Given the description of an element on the screen output the (x, y) to click on. 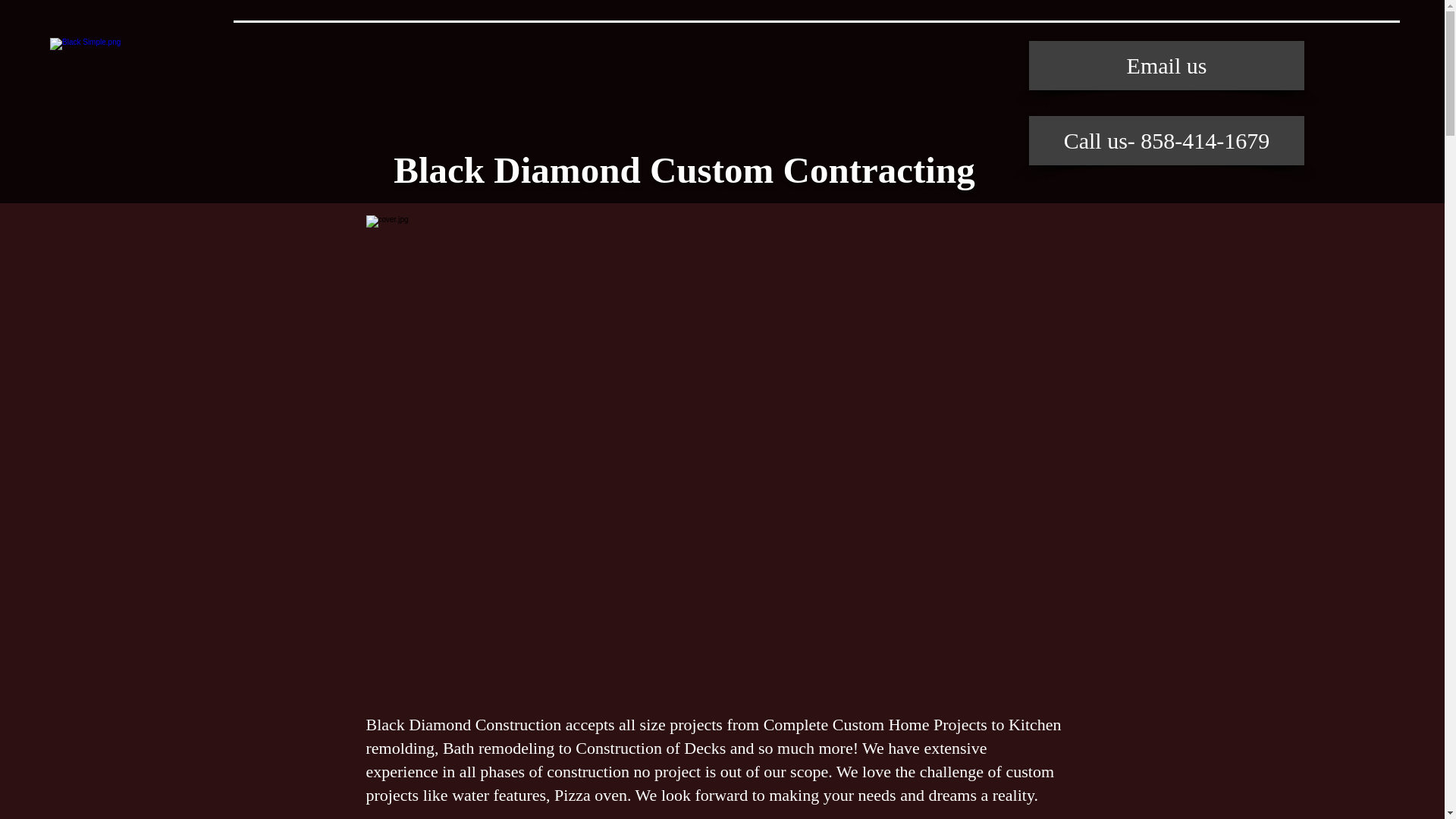
Email us Element type: text (1166, 65)
Call us- 858-414-1679 Element type: text (1166, 140)
